Given the description of an element on the screen output the (x, y) to click on. 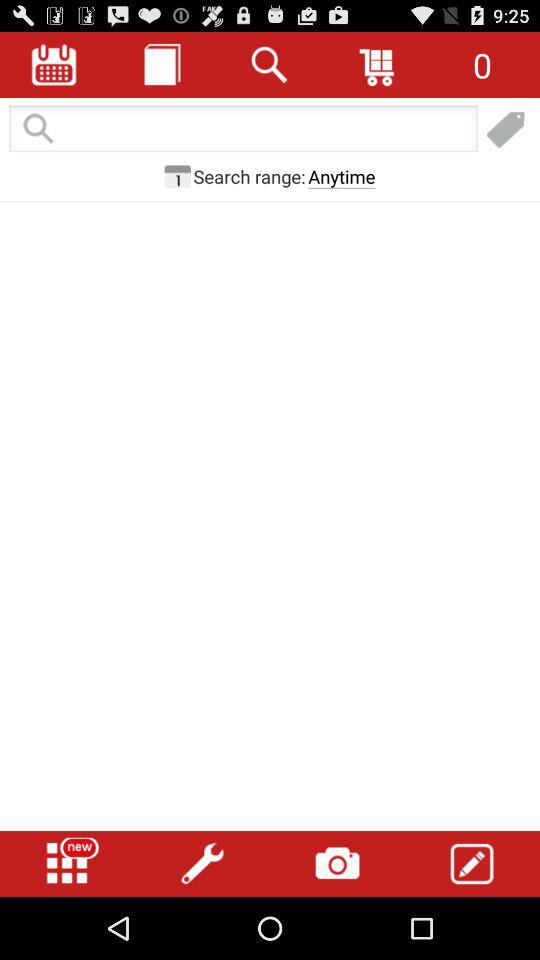
scroll until the anytime button (341, 175)
